Given the description of an element on the screen output the (x, y) to click on. 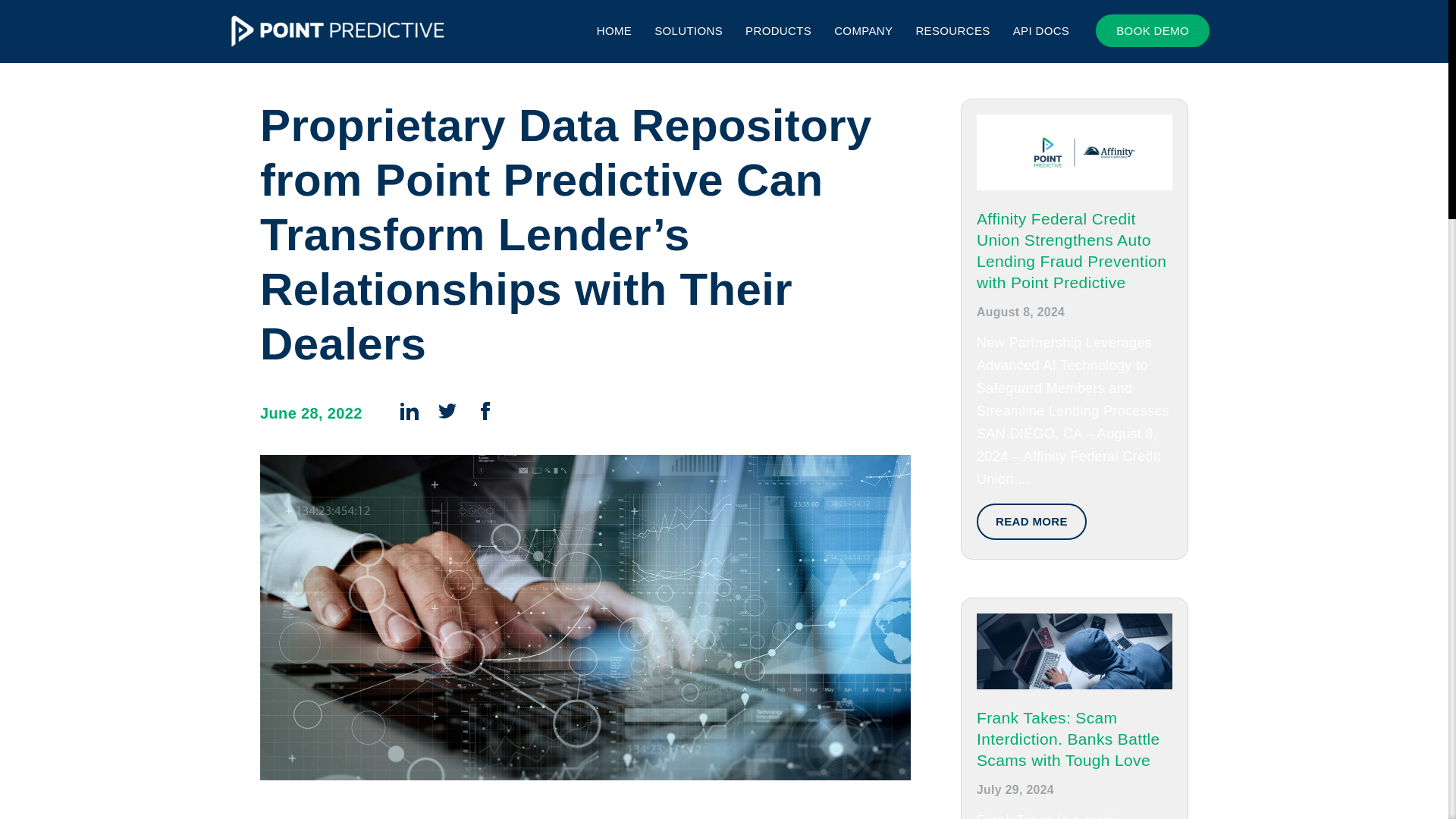
HOME (613, 30)
Point Predictive (337, 31)
COMPANY (863, 30)
PRODUCTS (777, 30)
SOLUTIONS (687, 30)
RESOURCES (952, 30)
